Given the description of an element on the screen output the (x, y) to click on. 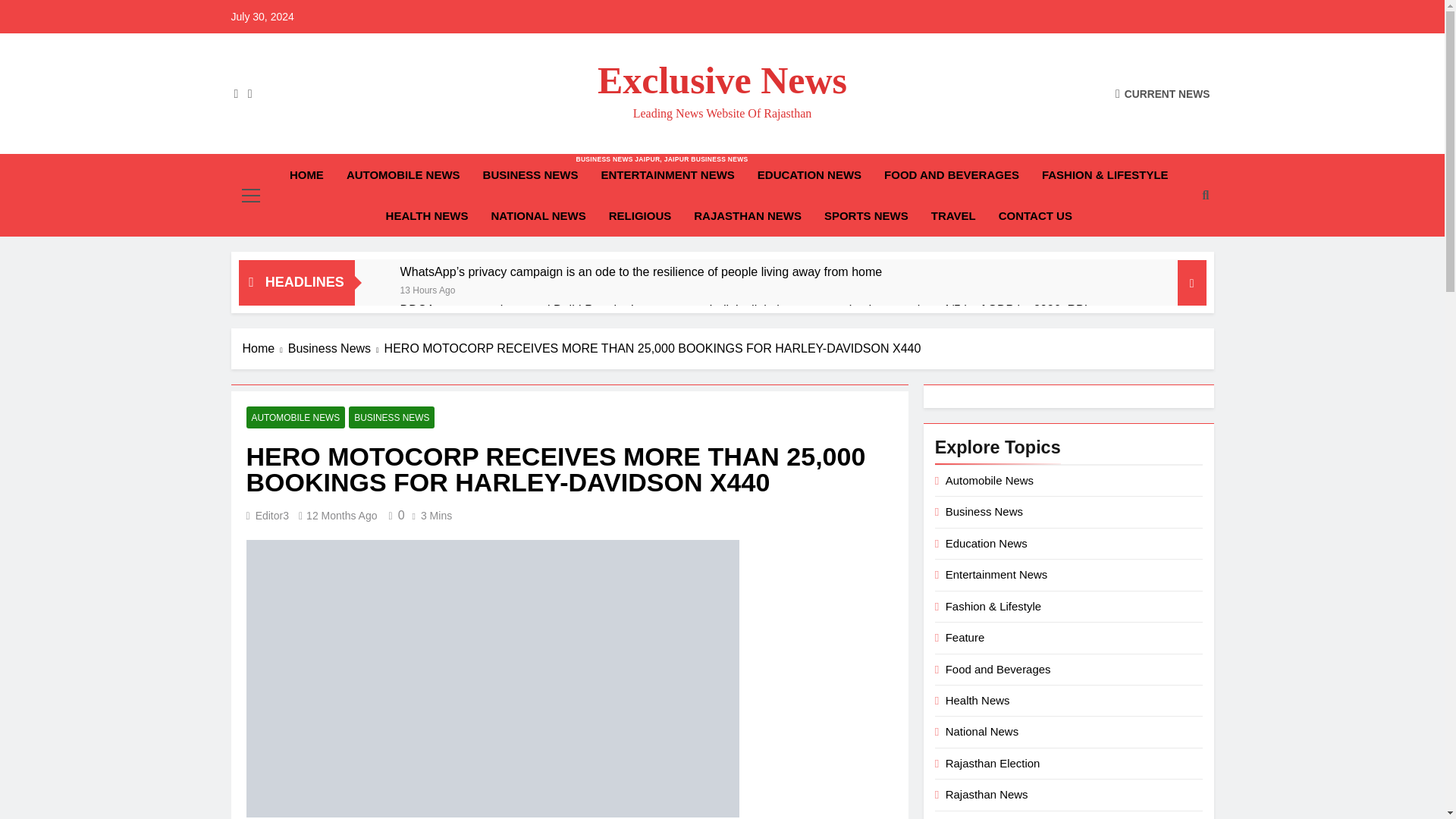
DDCA announces inaugural Delhi Premier League (530, 174)
FOOD AND BEVERAGES (535, 309)
Exclusive News (951, 174)
CONTACT US (721, 79)
NATIONAL NEWS (1035, 215)
EDUCATION NEWS (537, 215)
DDCA announces inaugural Delhi Premier League (808, 174)
SPORTS NEWS (535, 309)
HEALTH NEWS (866, 215)
HOME (427, 215)
TRAVEL (306, 174)
AUTOMOBILE NEWS (953, 215)
13 Hours Ago (402, 174)
RAJASTHAN NEWS (427, 288)
